Given the description of an element on the screen output the (x, y) to click on. 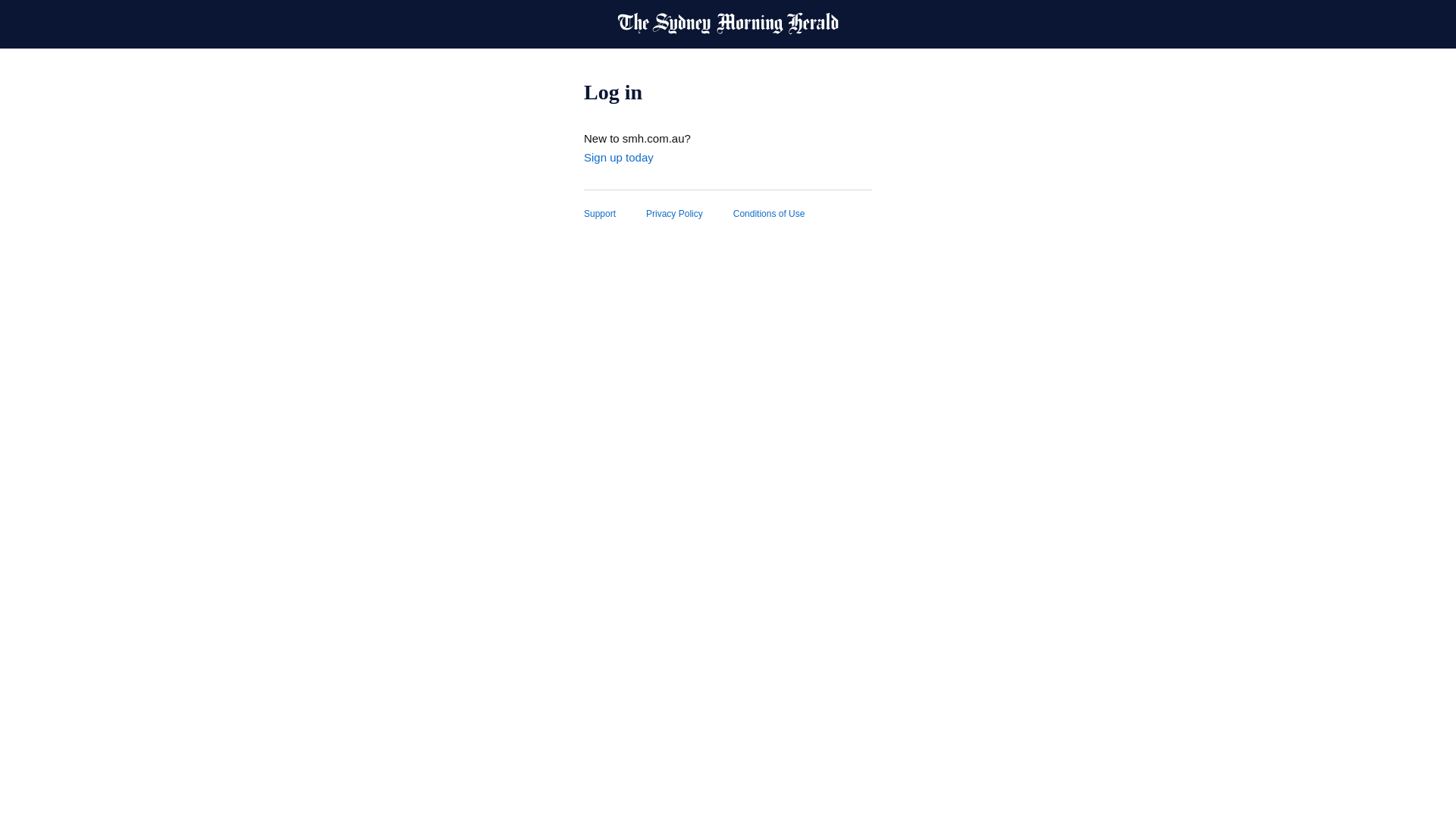
Sign up today Element type: text (618, 156)
Support Element type: text (614, 213)
Conditions of Use Element type: text (784, 213)
Privacy Policy Element type: text (689, 213)
